Given the description of an element on the screen output the (x, y) to click on. 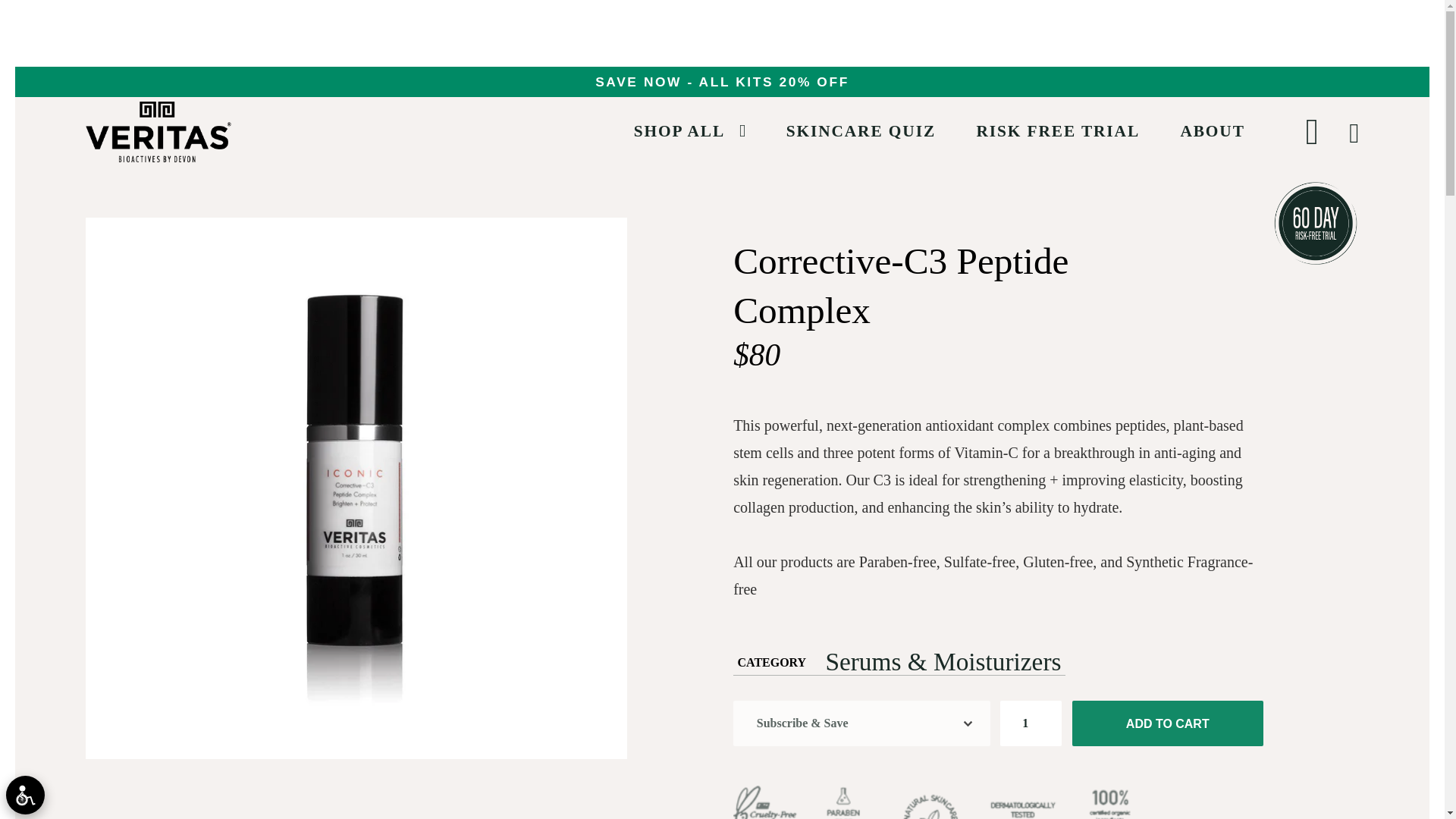
1 (1030, 723)
ABOUT (1211, 131)
SKINCARE QUIZ (861, 131)
SHOP ALL (679, 131)
RISK FREE TRIAL (1057, 131)
